Given the description of an element on the screen output the (x, y) to click on. 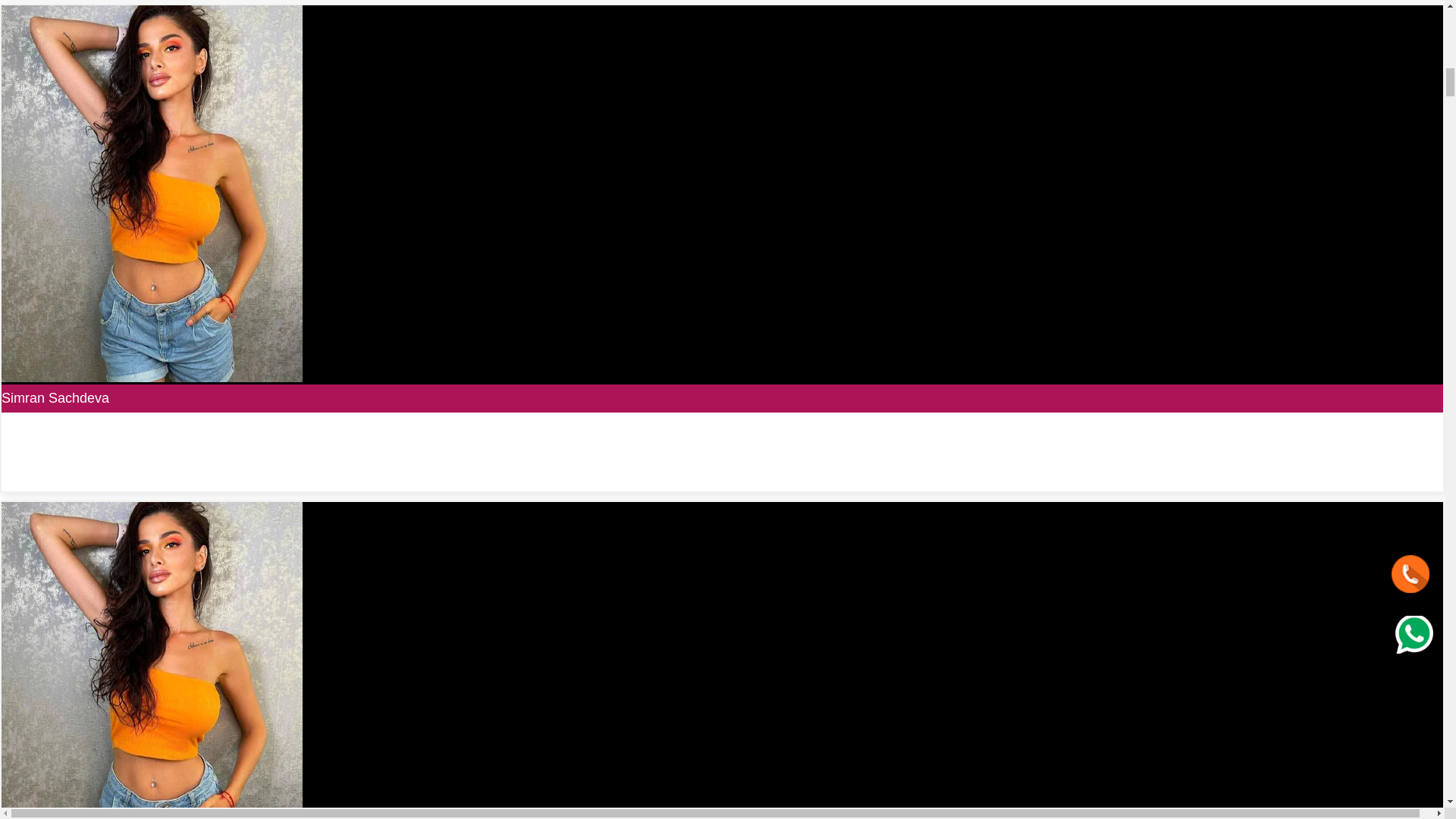
Simran Sachdeva (55, 397)
